Given the description of an element on the screen output the (x, y) to click on. 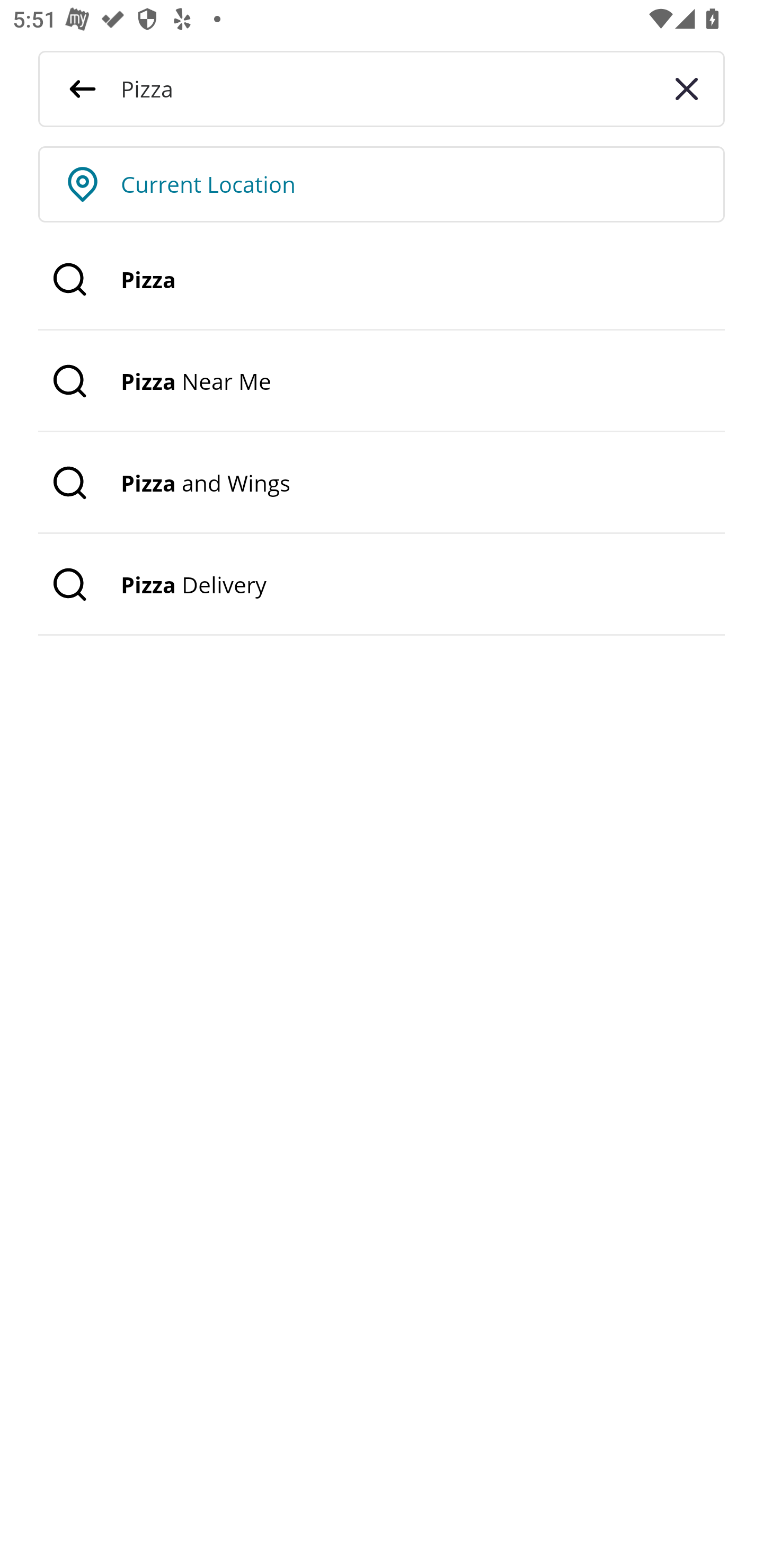
Current Location (422, 184)
